Given the description of an element on the screen output the (x, y) to click on. 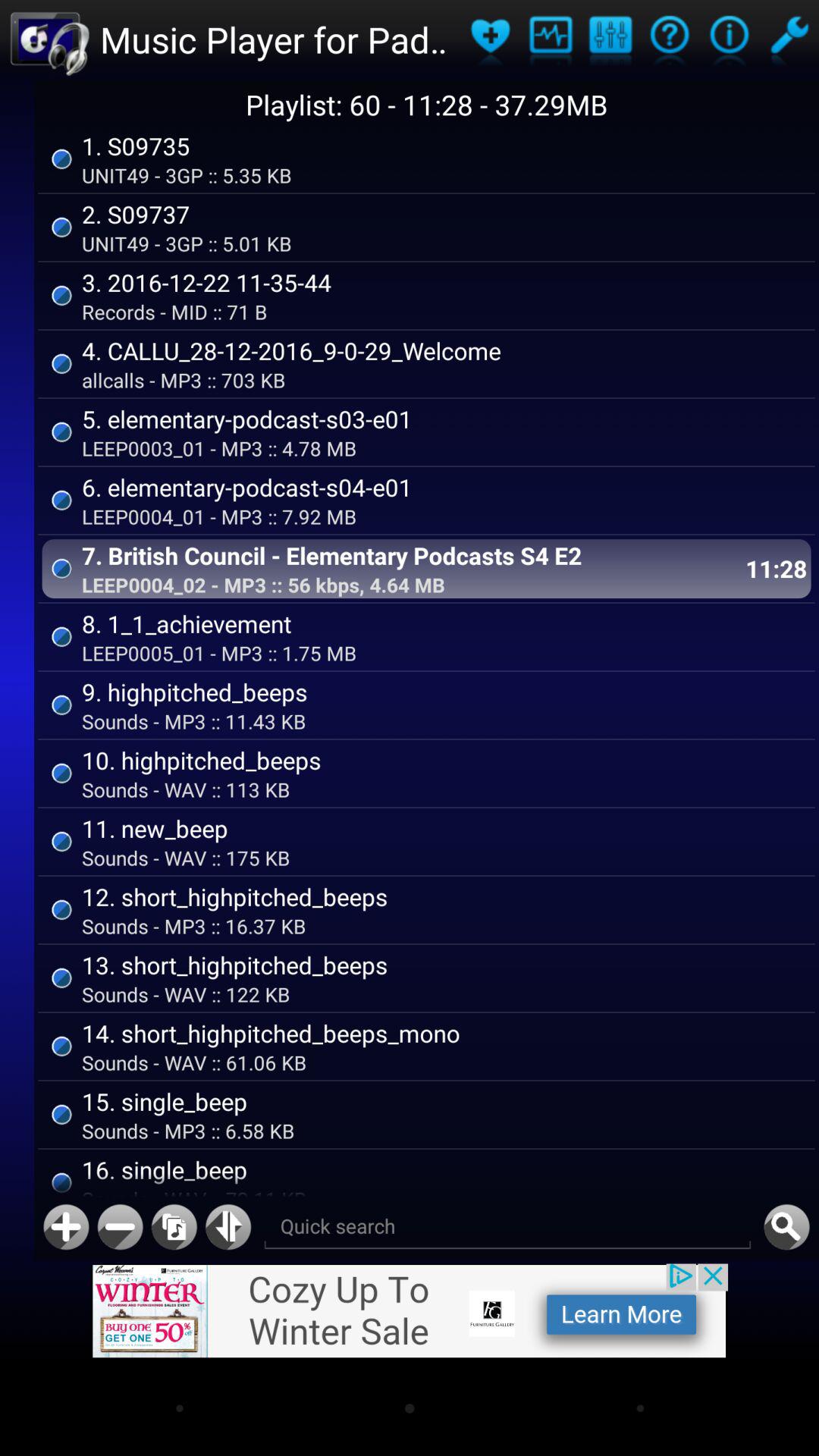
add item (66, 1226)
